Given the description of an element on the screen output the (x, y) to click on. 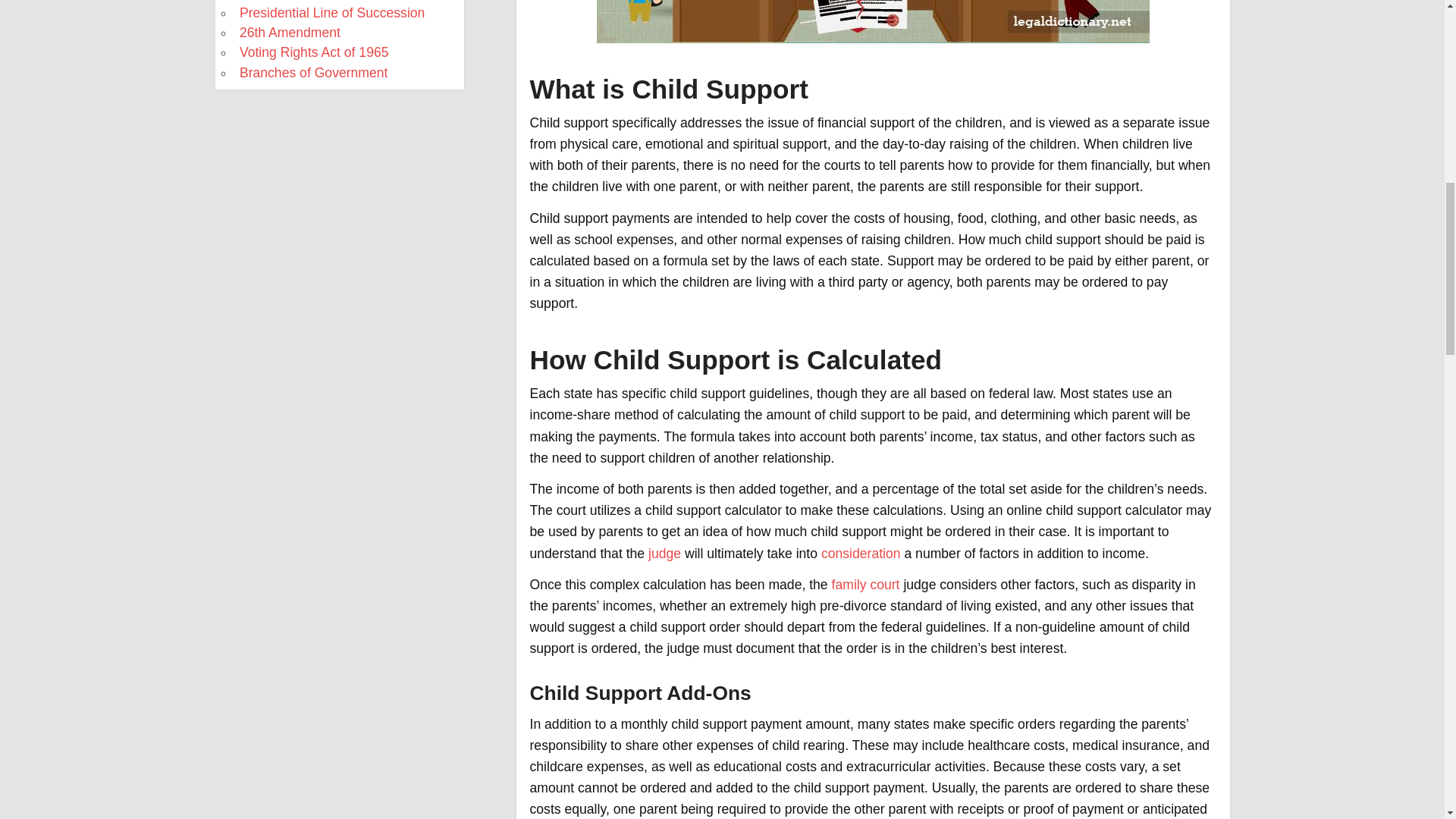
family court (865, 584)
consideration (861, 553)
judge (664, 553)
